Given the description of an element on the screen output the (x, y) to click on. 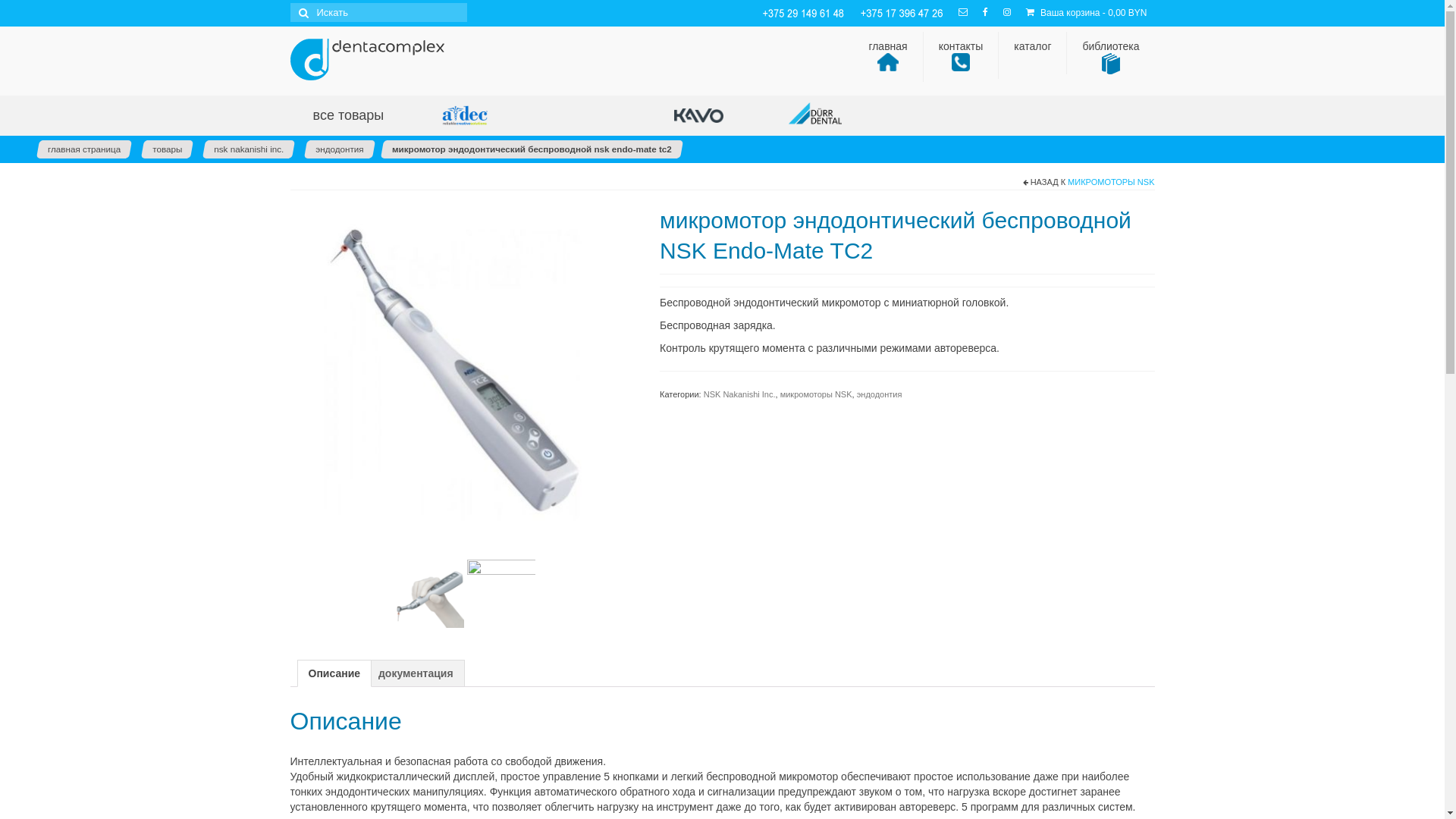
EM TC2 Element type: hover (500, 592)
nsk nakanishi inc. Element type: text (248, 149)
NSK Nakanishi Inc. Element type: text (739, 393)
EM TC2 hand Element type: hover (429, 592)
